Given the description of an element on the screen output the (x, y) to click on. 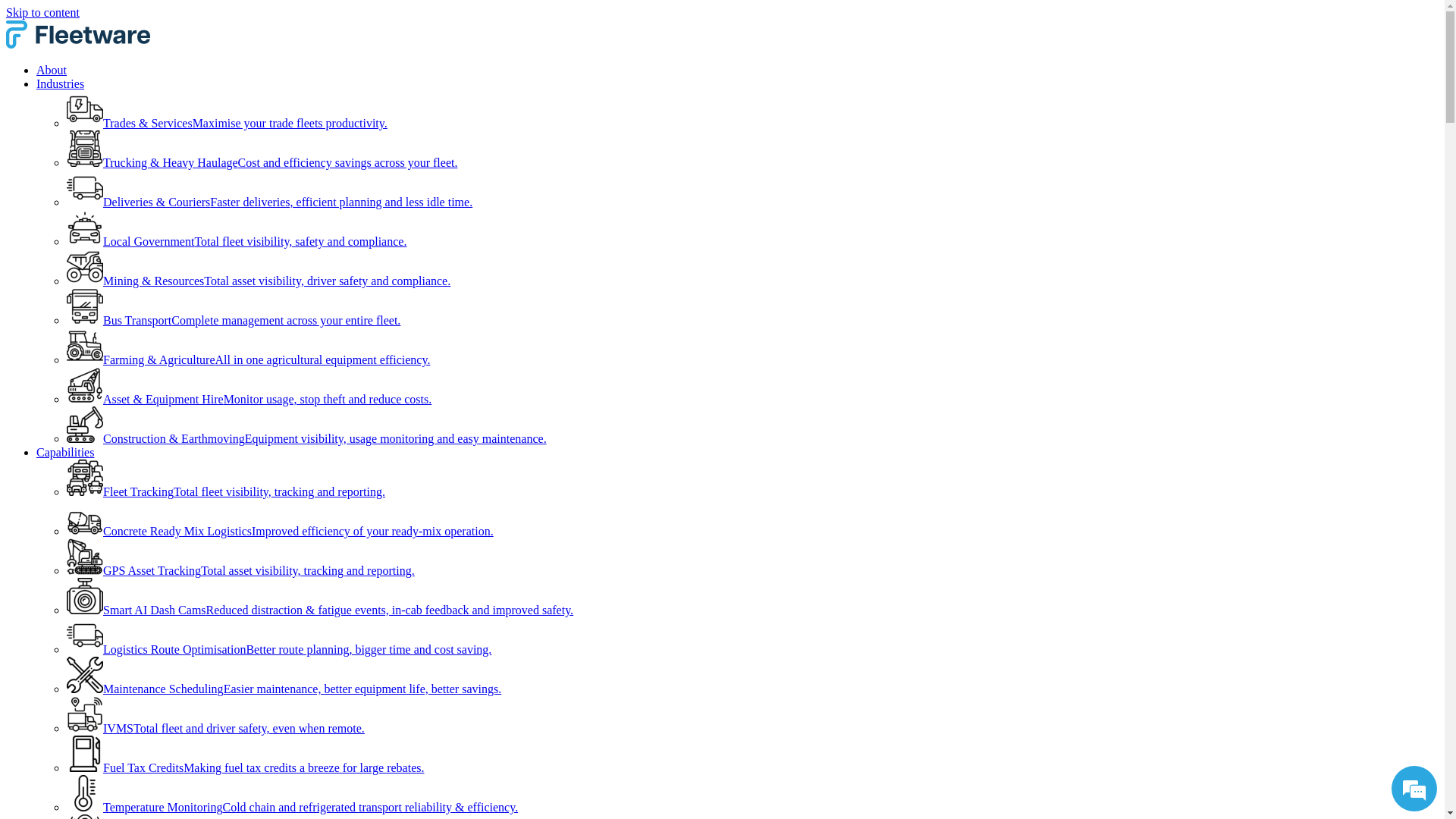
Trades & ServicesMaximise your trade fleets productivity. Element type: text (226, 122)
Bus TransportComplete management across your entire fleet. Element type: text (233, 319)
Skip to content Element type: text (42, 12)
IVMSTotal fleet and driver safety, even when remote. Element type: text (215, 727)
Capabilities Element type: text (65, 451)
About Element type: text (51, 69)
Industries Element type: text (60, 83)
